Given the description of an element on the screen output the (x, y) to click on. 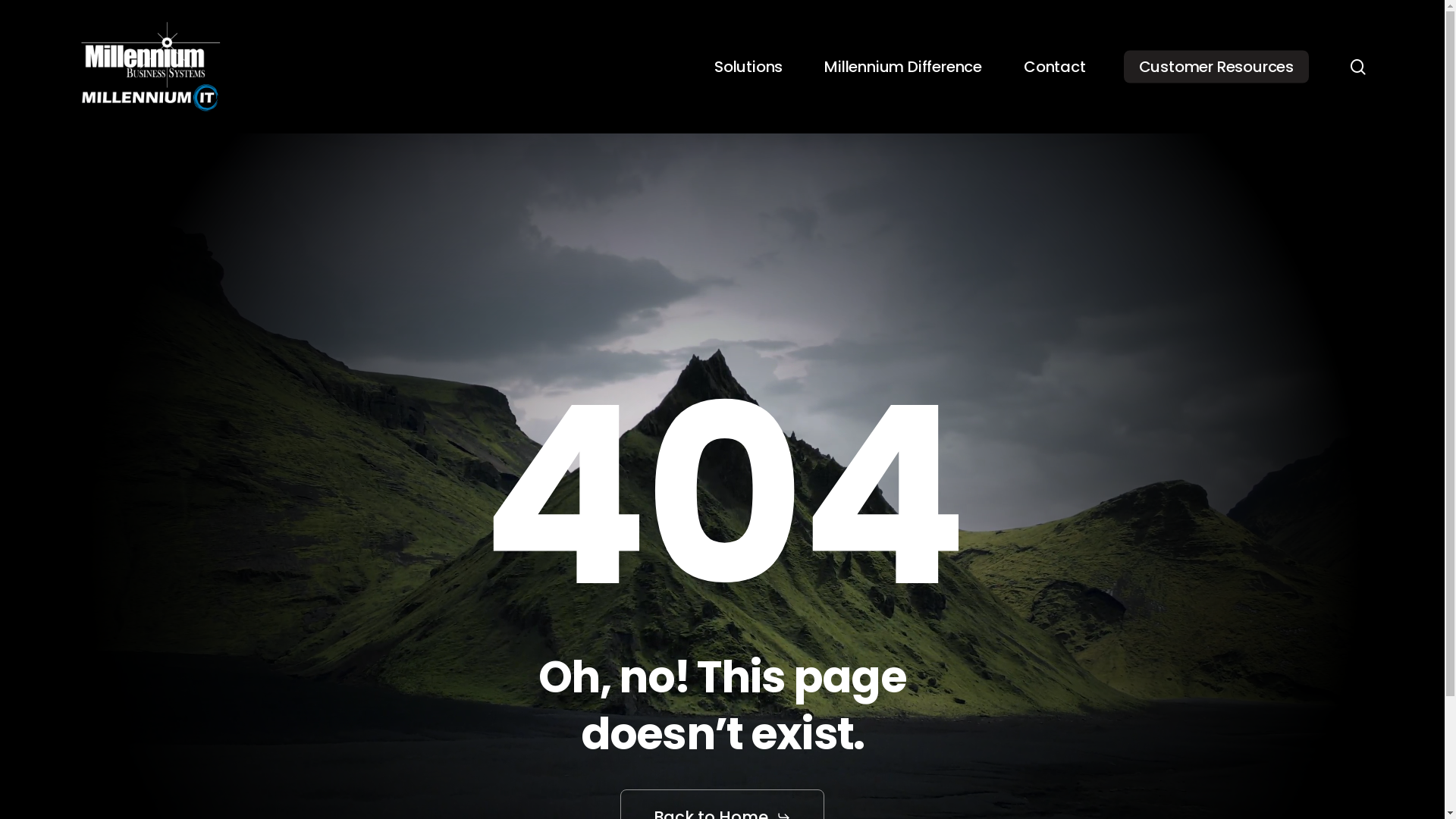
Millennium Difference Element type: text (903, 66)
Solutions Element type: text (748, 66)
search Element type: text (1357, 67)
Customer Resources Element type: text (1215, 66)
Contact Element type: text (1054, 66)
